Given the description of an element on the screen output the (x, y) to click on. 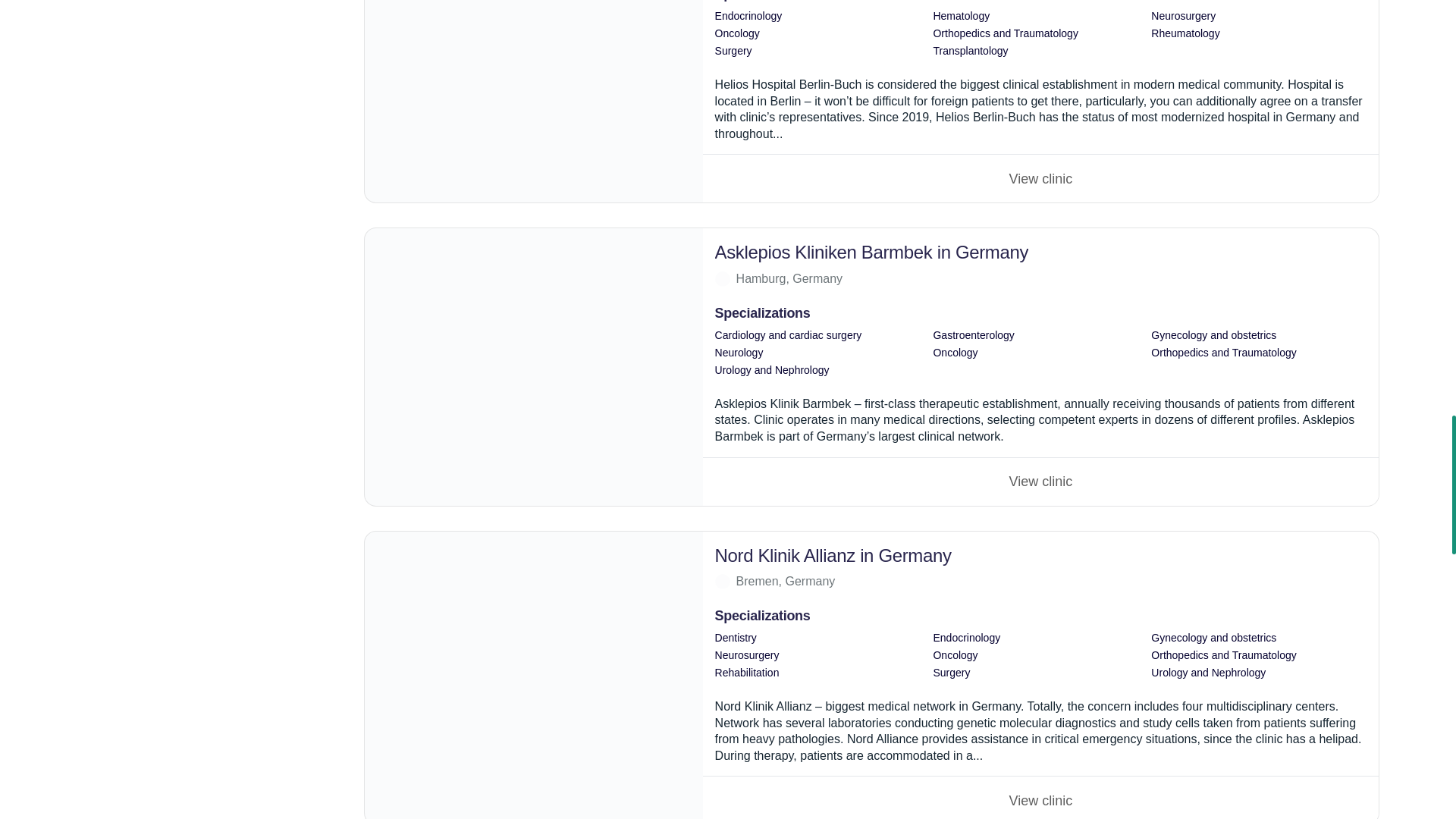
Asklepios Kliniken Barmbek in Germany (534, 366)
Nord Klinik Allianz in Germany (534, 675)
Helios Klinikum Berlin-Buch Hospital in Germany (534, 101)
Adenocarcinoma (1040, 177)
Adenocarcinoma (1040, 797)
Adenocarcinoma (1040, 481)
